Given the description of an element on the screen output the (x, y) to click on. 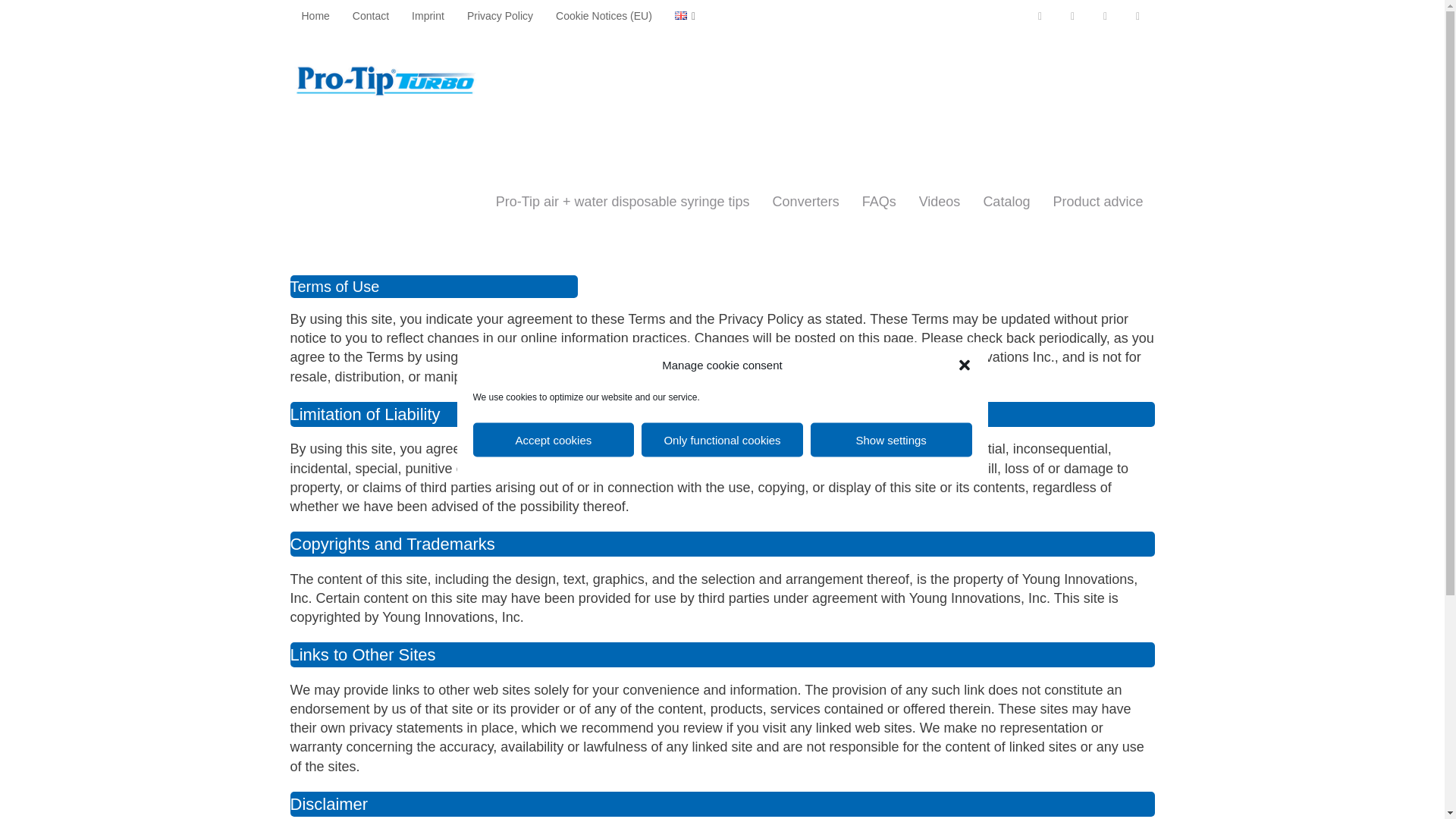
Only functional cookies (722, 440)
Show settings (891, 440)
Accept cookies (553, 440)
Product advice (1097, 201)
Imprint (427, 15)
Privacy Policy (499, 15)
Contact (370, 15)
Converters (805, 201)
Home (314, 15)
